Given the description of an element on the screen output the (x, y) to click on. 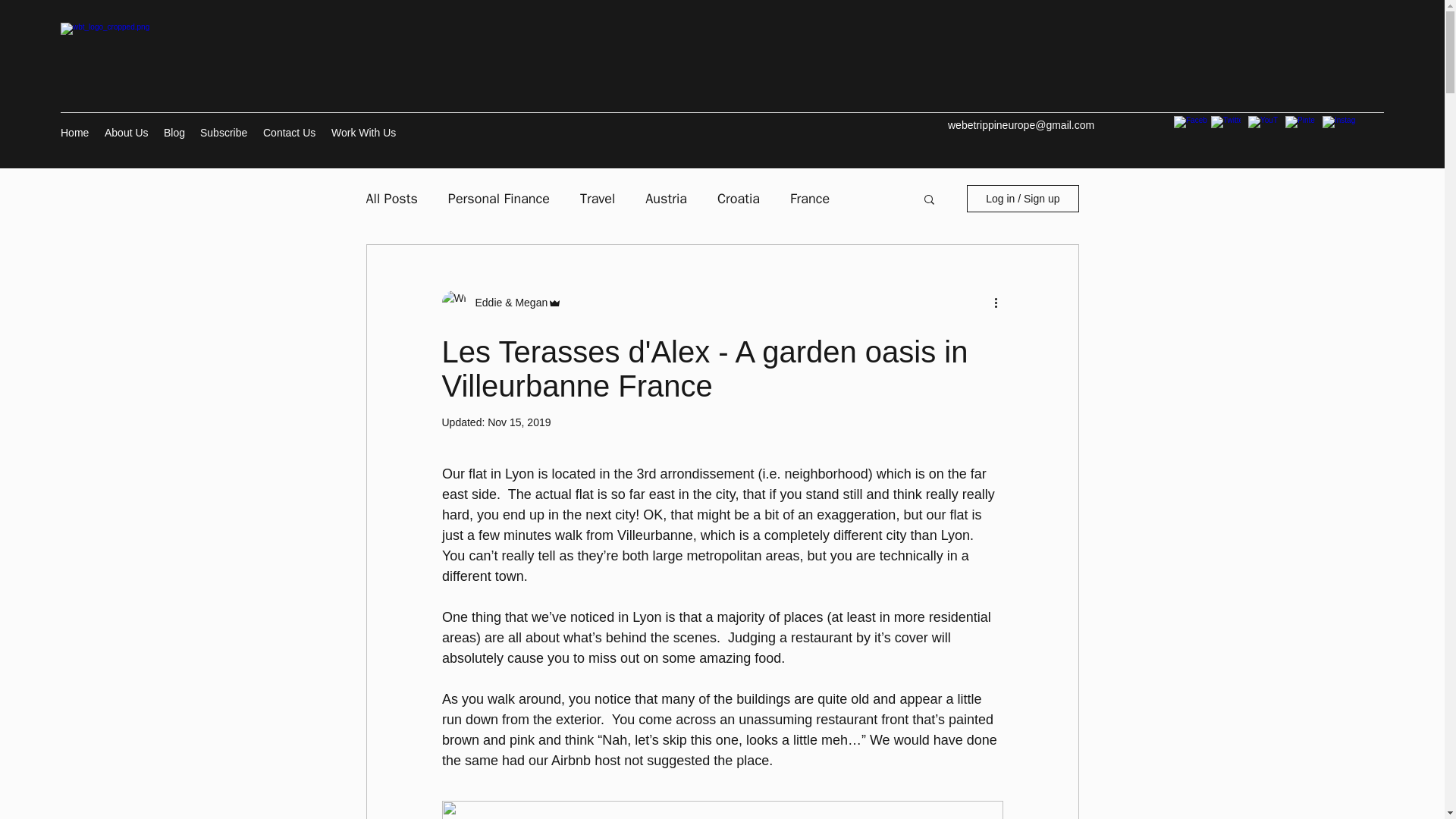
Personal Finance (499, 198)
Blog (173, 132)
Work With Us (363, 132)
Travel (596, 198)
Austria (666, 198)
Nov 15, 2019 (518, 422)
Home (74, 132)
All Posts (390, 198)
Croatia (738, 198)
Subscribe (224, 132)
